Given the description of an element on the screen output the (x, y) to click on. 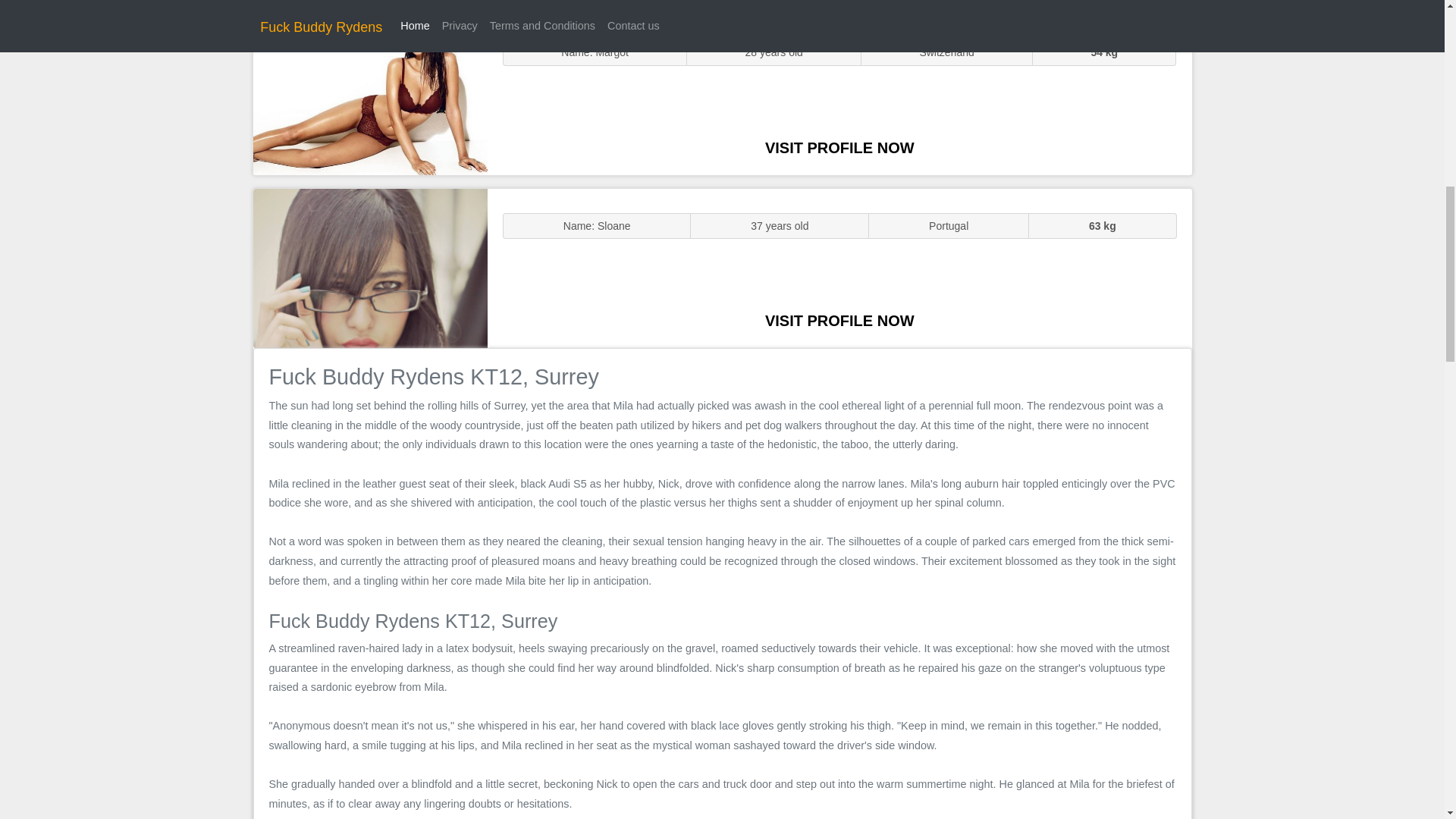
Massage (370, 267)
VISIT PROFILE NOW (839, 320)
VISIT PROFILE NOW (839, 147)
Sluts (370, 94)
